Given the description of an element on the screen output the (x, y) to click on. 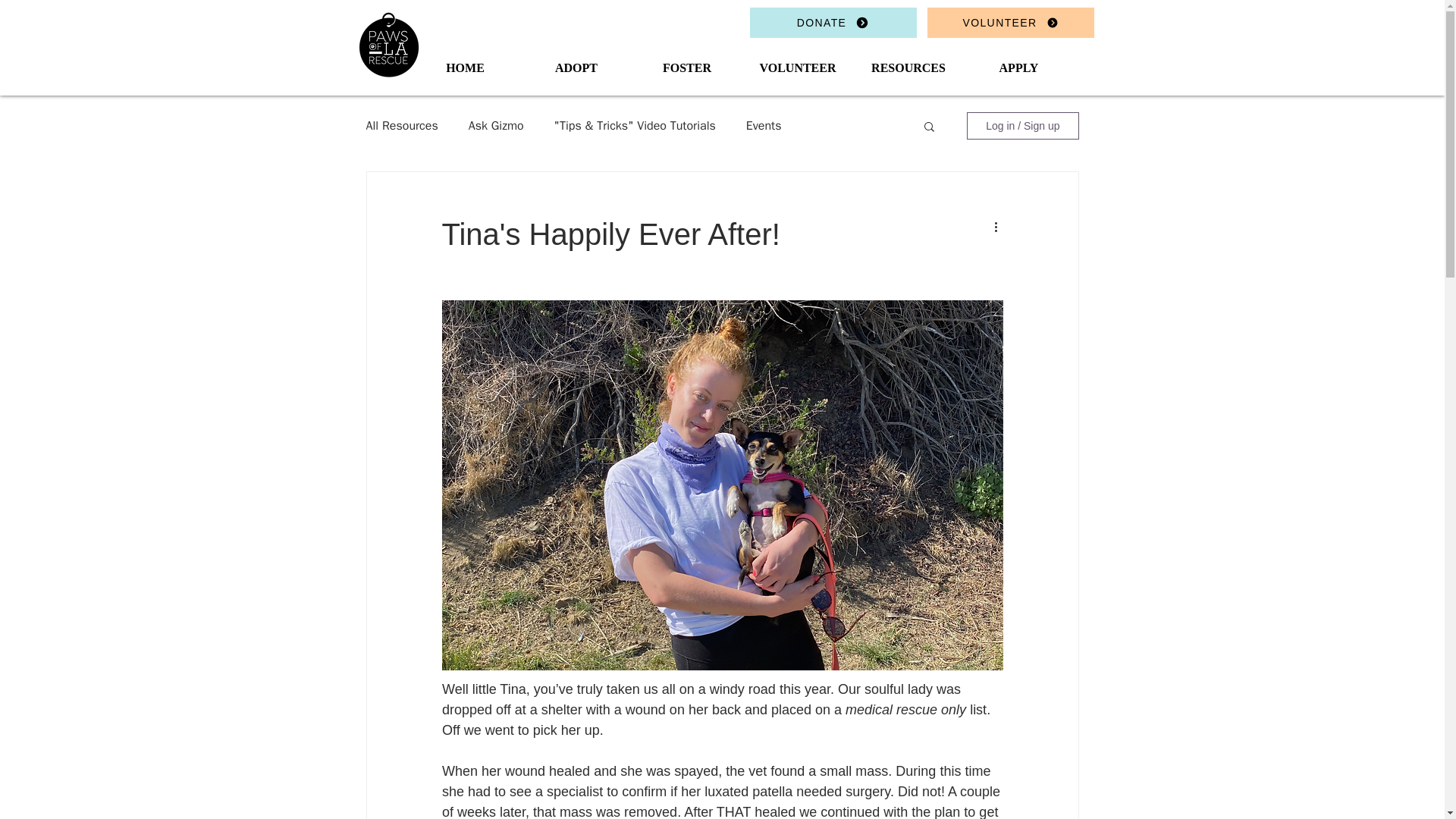
DONATE (832, 22)
FOSTER (685, 67)
VOLUNTEER (796, 67)
RESOURCES (906, 67)
VOLUNTEER (1009, 22)
ADOPT (574, 67)
Events (763, 125)
APPLY (1017, 67)
HOME (464, 67)
Ask Gizmo (496, 125)
